Given the description of an element on the screen output the (x, y) to click on. 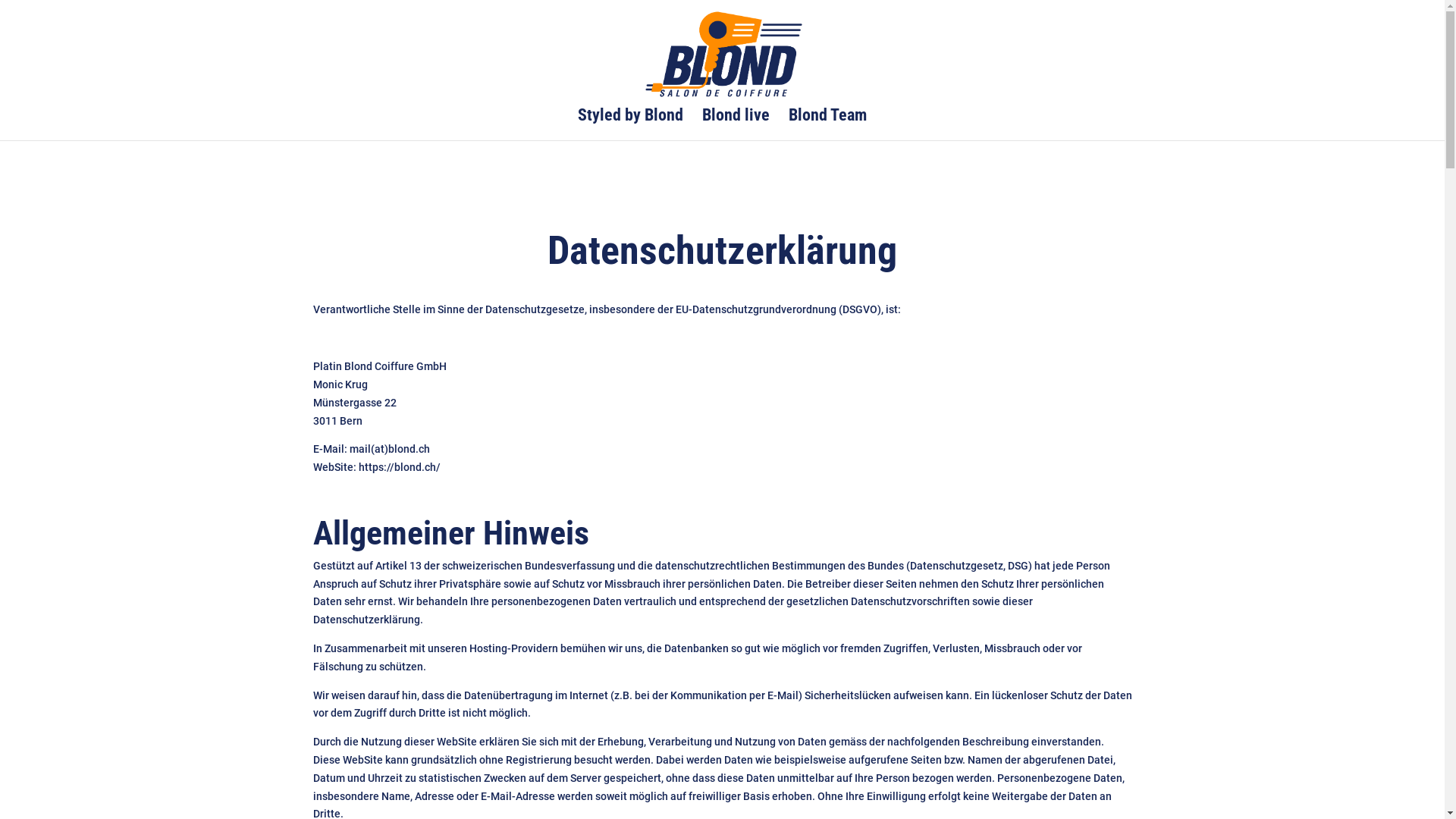
Styled by Blond Element type: text (630, 124)
Blond Team Element type: text (827, 124)
Blond live Element type: text (735, 124)
